Given the description of an element on the screen output the (x, y) to click on. 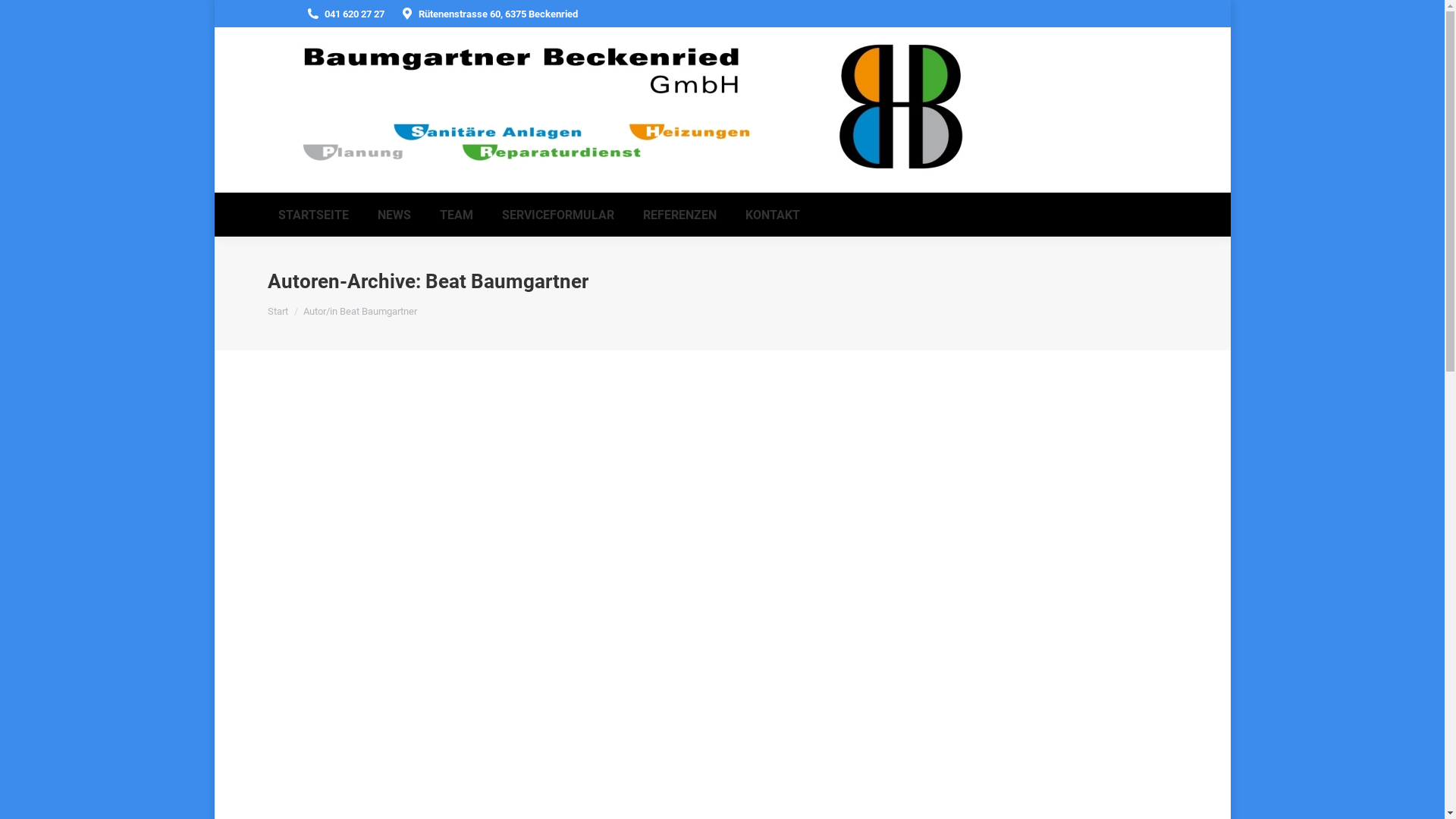
Beat Baumgartner Element type: text (505, 280)
KONTAKT Element type: text (771, 214)
STARTSEITE Element type: text (312, 214)
Start Element type: text (276, 310)
TEAM Element type: text (456, 214)
NEWS Element type: text (394, 214)
REFERENZEN Element type: text (679, 214)
SERVICEFORMULAR Element type: text (557, 214)
Los! Element type: text (25, 16)
